Given the description of an element on the screen output the (x, y) to click on. 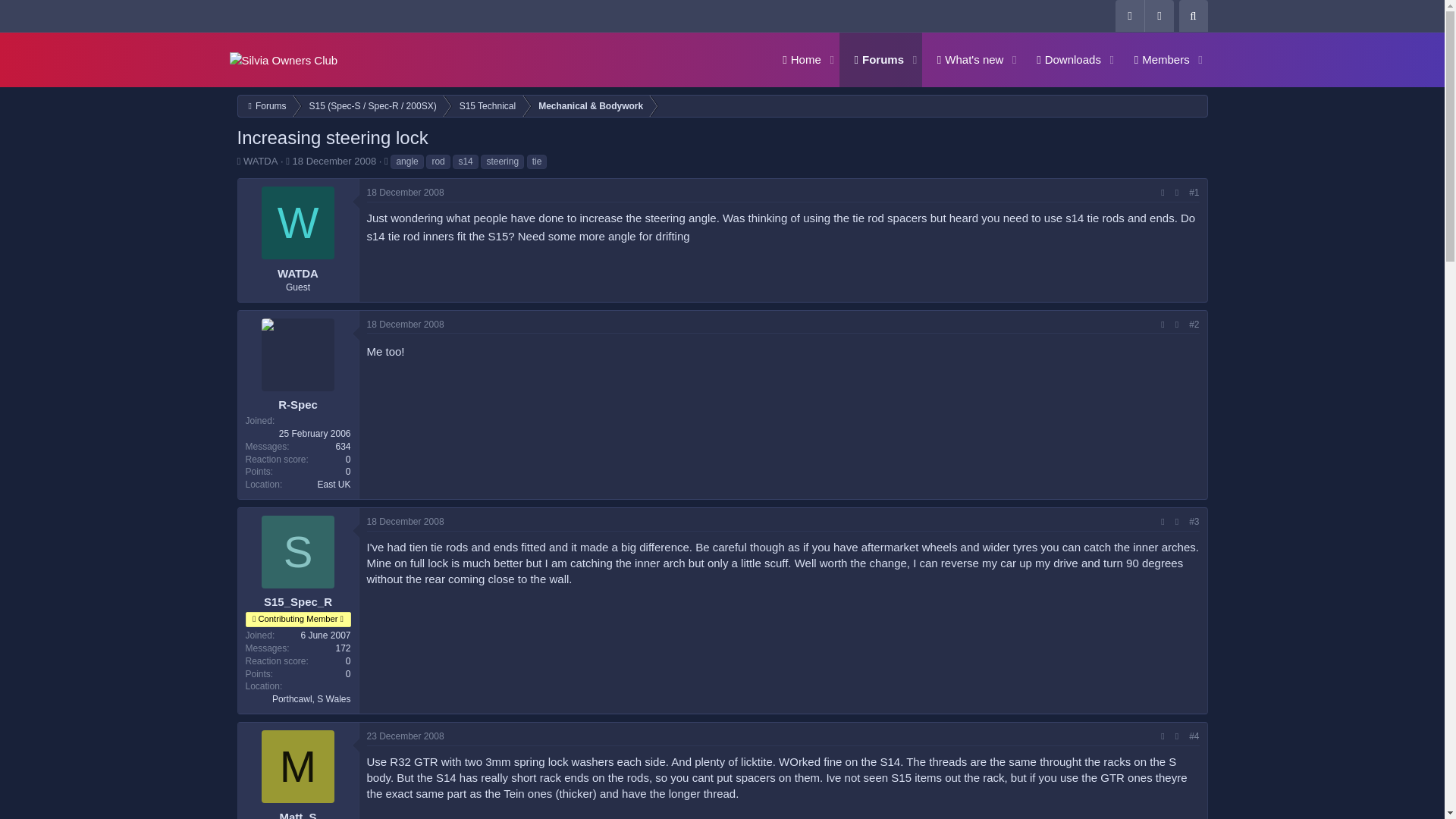
Members (987, 59)
Start date (1156, 59)
Thread starter (287, 161)
Tags (237, 161)
18 December 2008 at 3:10 AM (386, 161)
18 December 2008 at 9:24 AM (405, 192)
What's new (405, 324)
Home (964, 59)
Forums (796, 59)
23 December 2008 at 2:17 AM (874, 59)
Downloads (405, 736)
18 December 2008 at 3:18 PM (1063, 59)
Big grin    :D (405, 521)
18 December 2008 at 3:10 AM (701, 234)
